Given the description of an element on the screen output the (x, y) to click on. 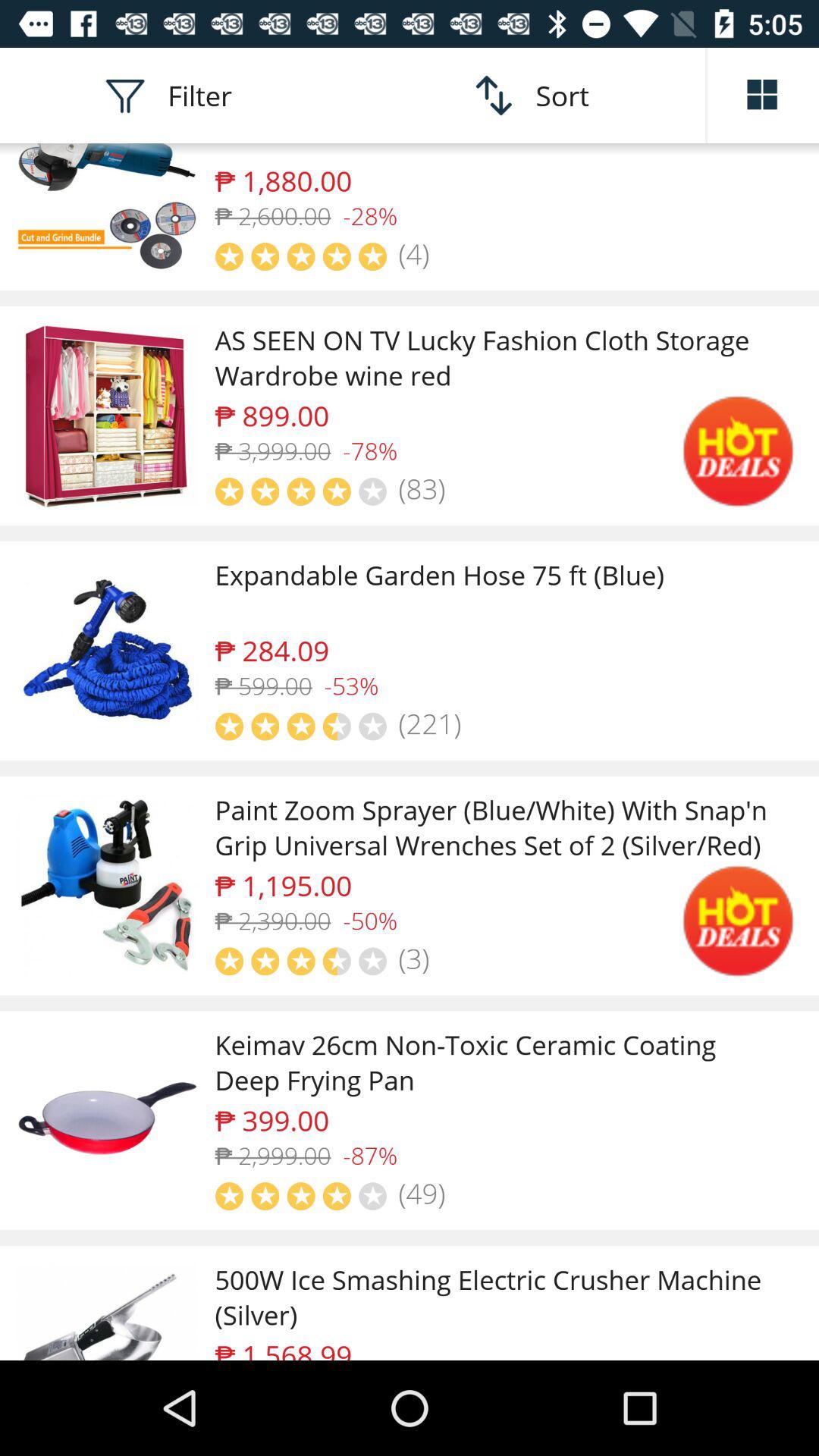
arrange list (763, 95)
